Given the description of an element on the screen output the (x, y) to click on. 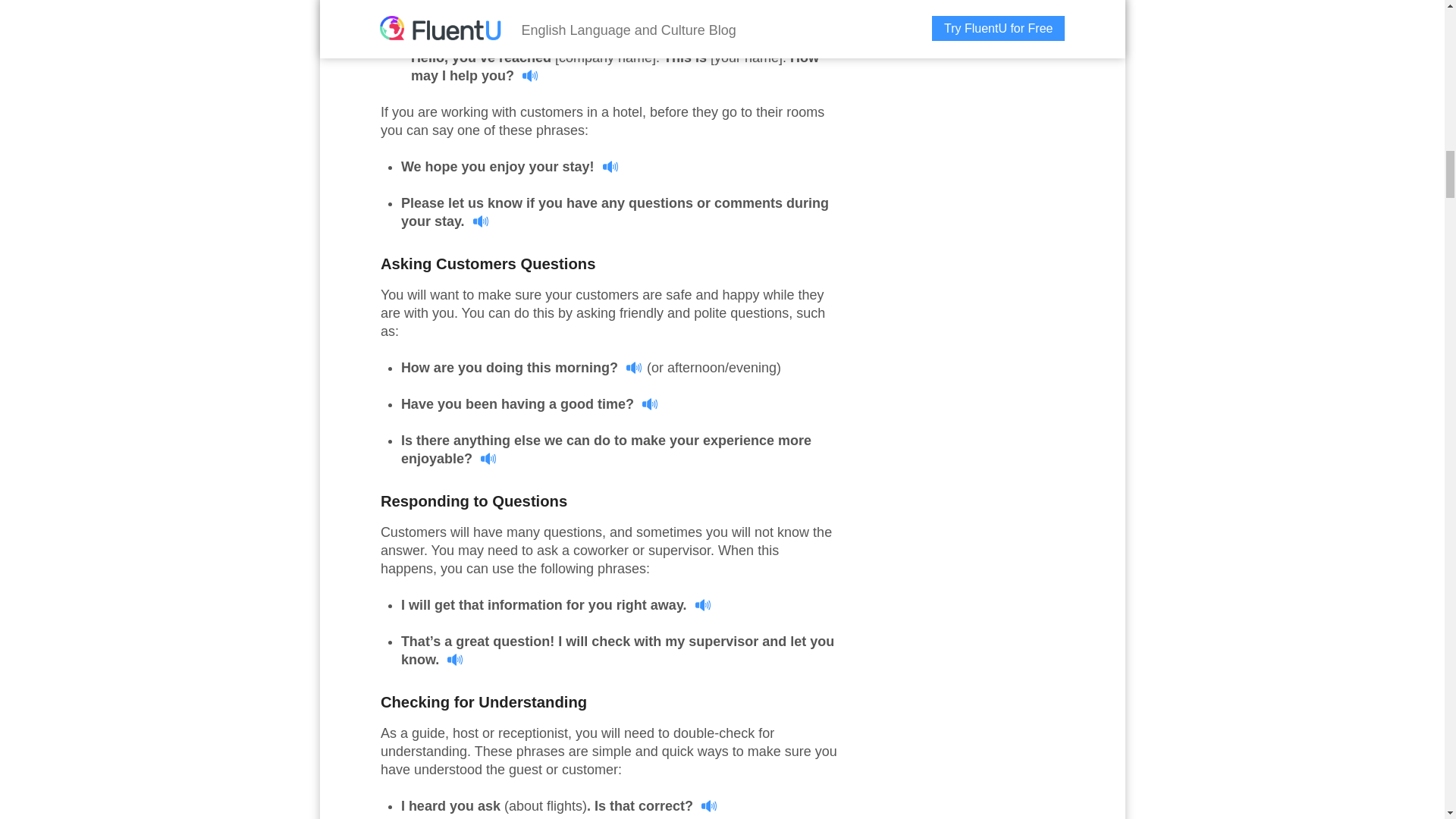
Learn more about FluentU (492, 7)
